Given the description of an element on the screen output the (x, y) to click on. 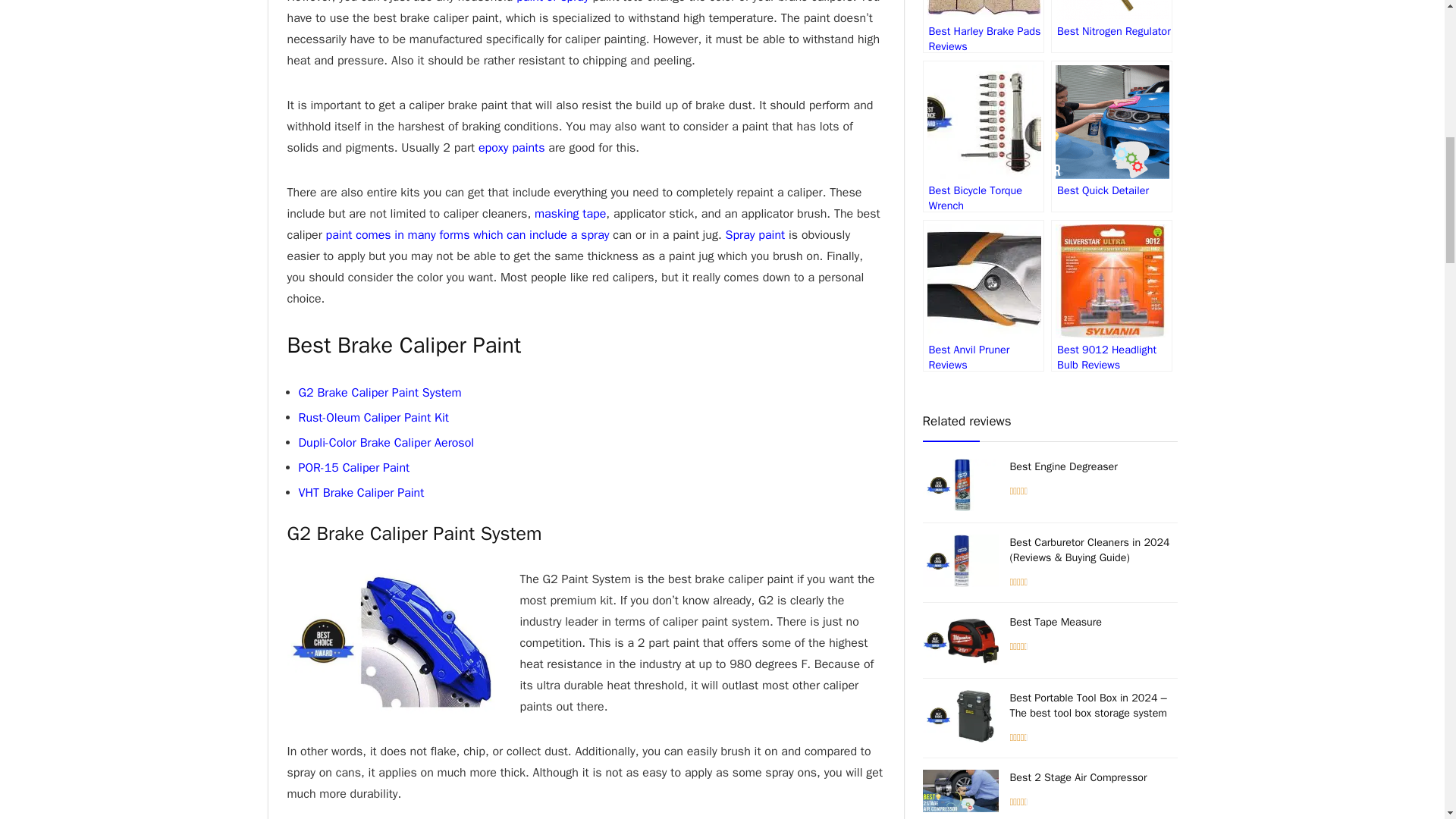
paint comes in many forms which can include a spray (468, 234)
Dupli-Color Brake Caliper Aerosol (386, 442)
Spray paint (755, 234)
G2 Brake Caliper Paint System (379, 392)
Rust-Oleum Caliper Paint Kit (373, 417)
epoxy paints (511, 147)
paint or spray (552, 2)
POR-15 Caliper Paint (354, 467)
VHT Brake Caliper Paint (361, 492)
masking tape (569, 213)
